Given the description of an element on the screen output the (x, y) to click on. 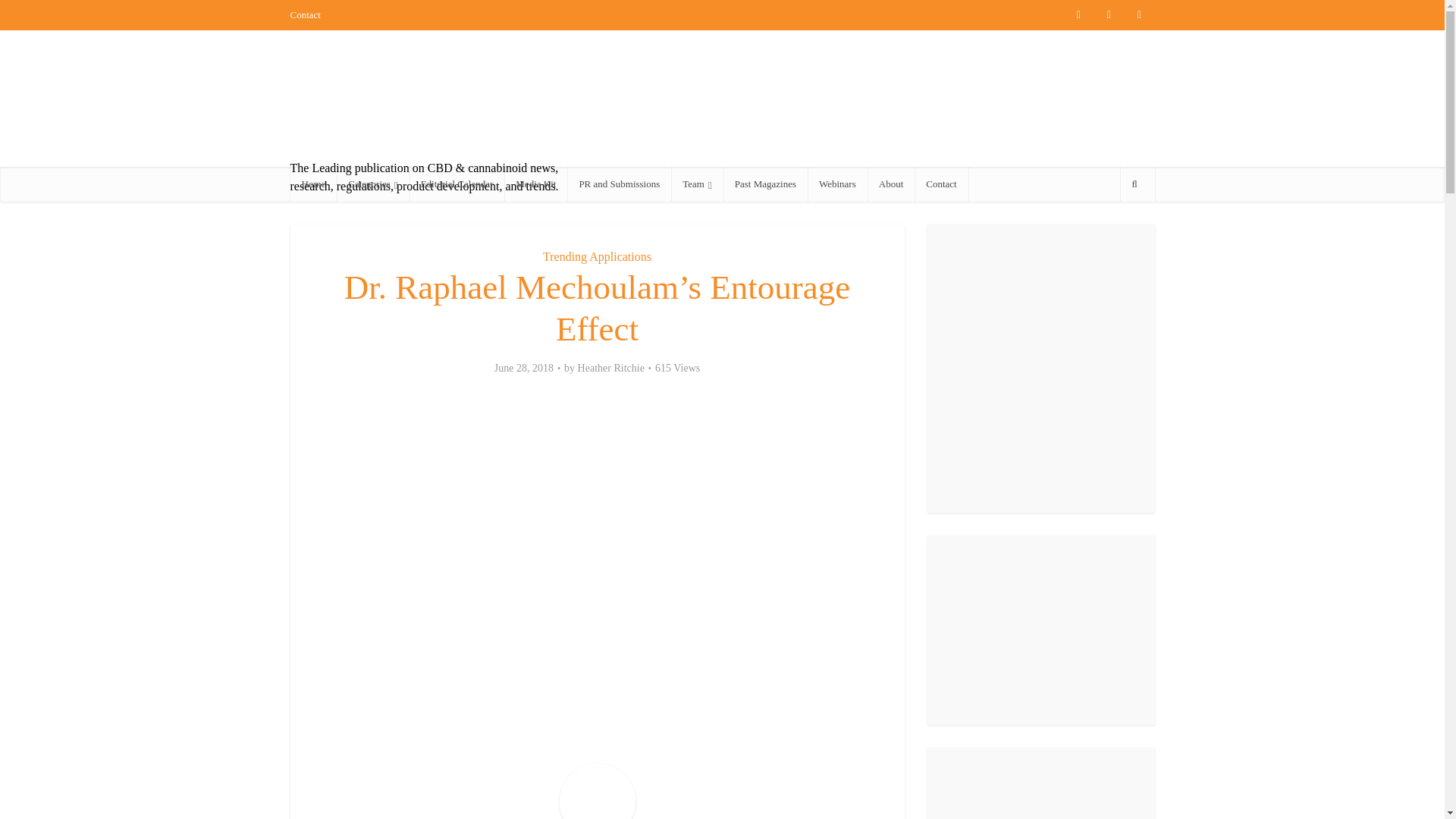
Categories (372, 184)
German (390, 14)
Editorial Calendar (457, 184)
Home (312, 184)
PR and Submissions (619, 184)
Media Kit (535, 184)
Past Magazines (765, 184)
French (365, 14)
Contact (941, 184)
Team (696, 184)
